Given the description of an element on the screen output the (x, y) to click on. 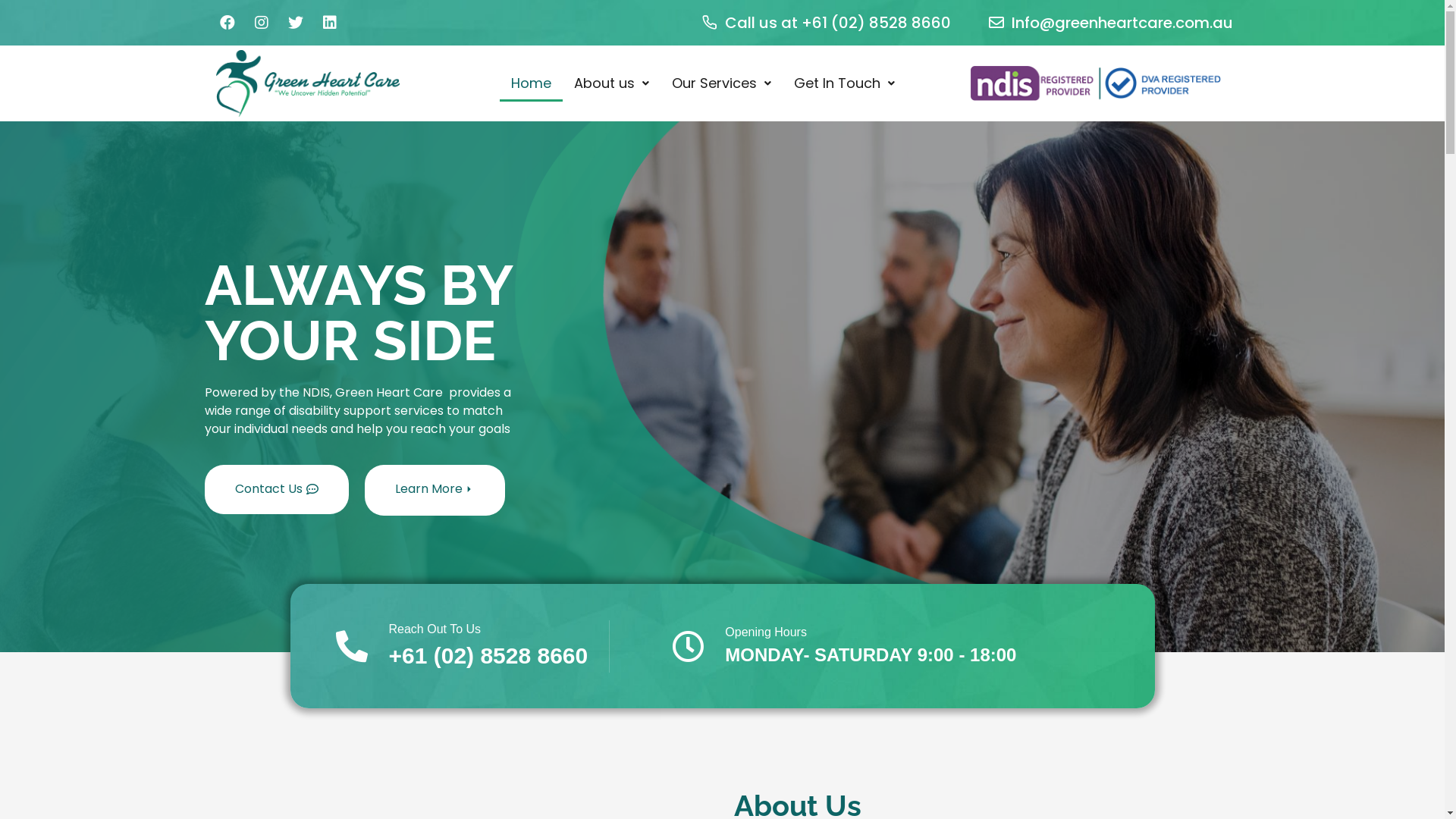
Home Element type: text (530, 83)
Get In Touch Element type: text (844, 83)
Contact Us Element type: text (276, 489)
Call us at +61 (02) 8528 8660 Element type: text (826, 22)
Our Services Element type: text (721, 83)
Learn More Element type: text (434, 489)
About us Element type: text (611, 83)
Info@greenheartcare.com.au Element type: text (1110, 22)
